Given the description of an element on the screen output the (x, y) to click on. 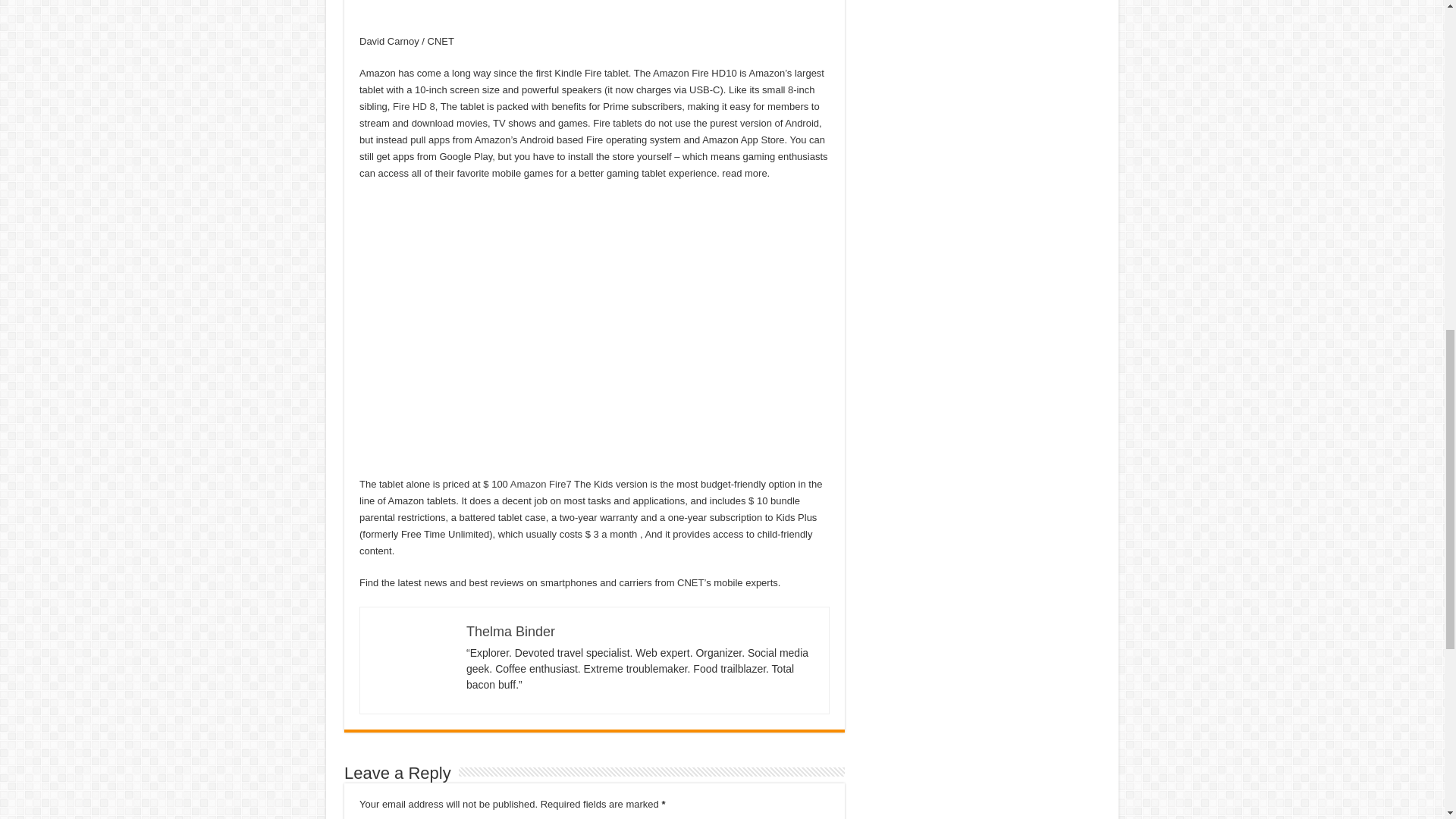
Amazon Fire7 (541, 483)
Fire HD 8 (414, 106)
Thelma Binder (509, 631)
